Given the description of an element on the screen output the (x, y) to click on. 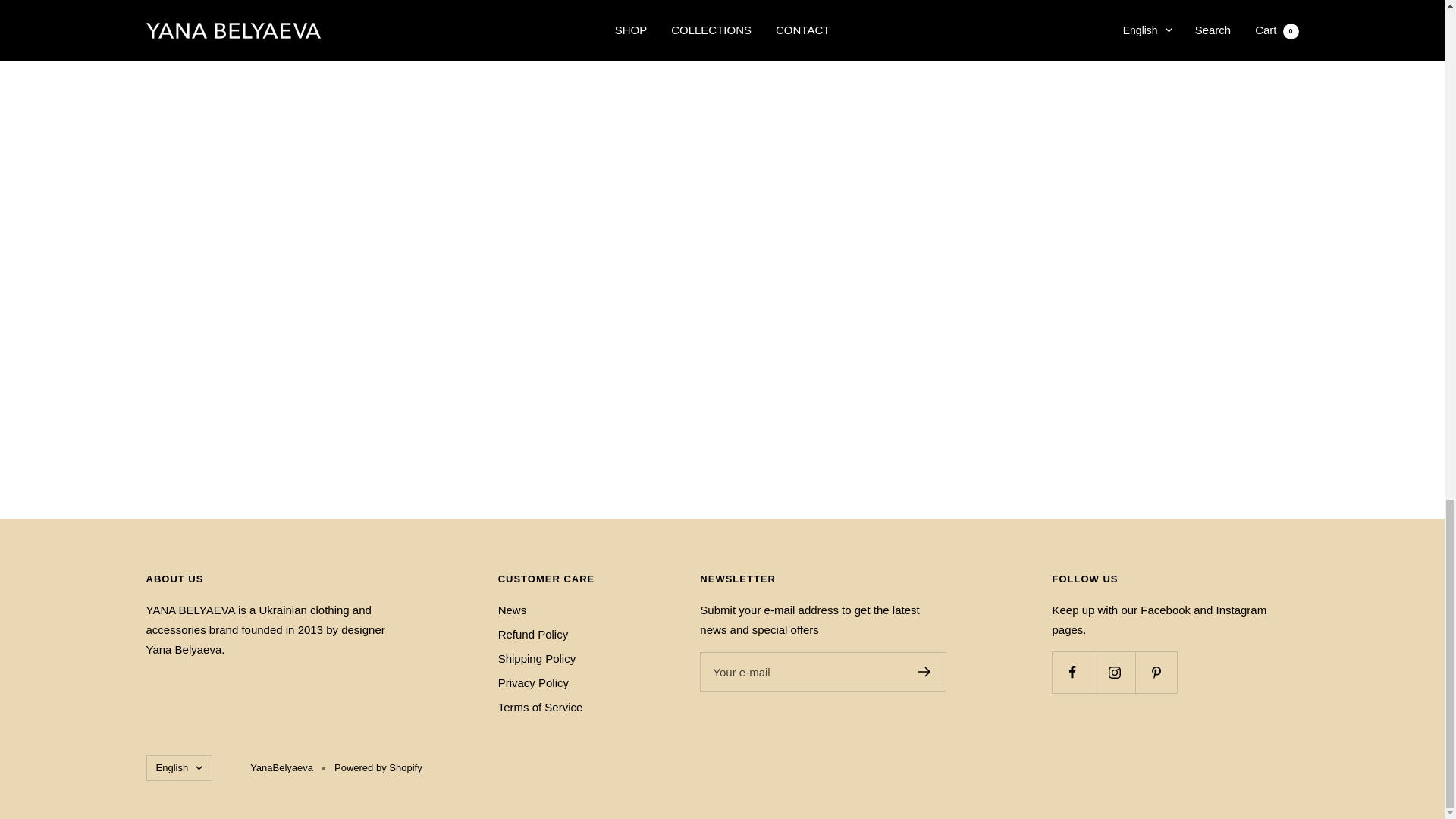
Register (924, 671)
